Given the description of an element on the screen output the (x, y) to click on. 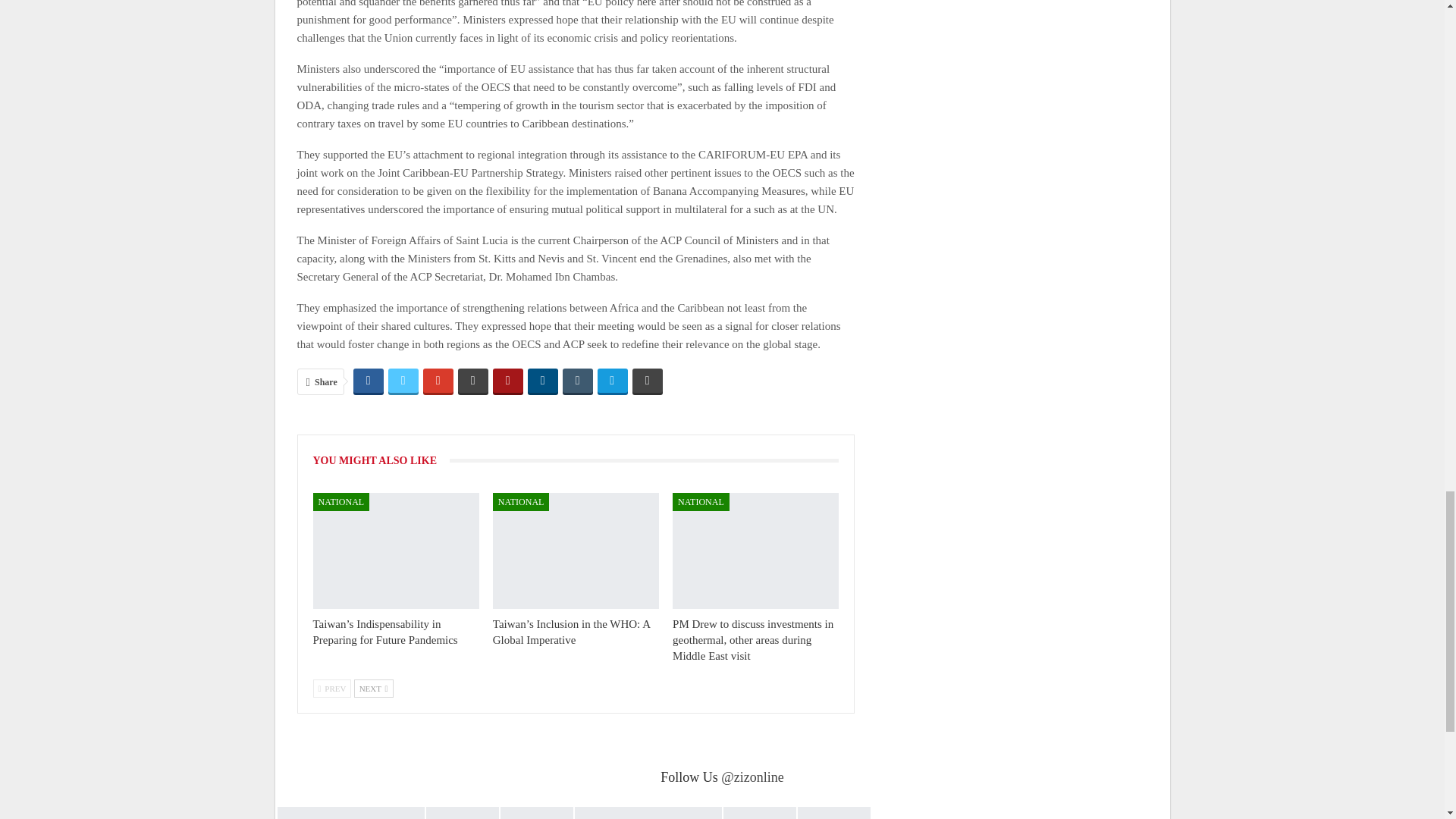
Next (373, 688)
Previous (331, 688)
